Given the description of an element on the screen output the (x, y) to click on. 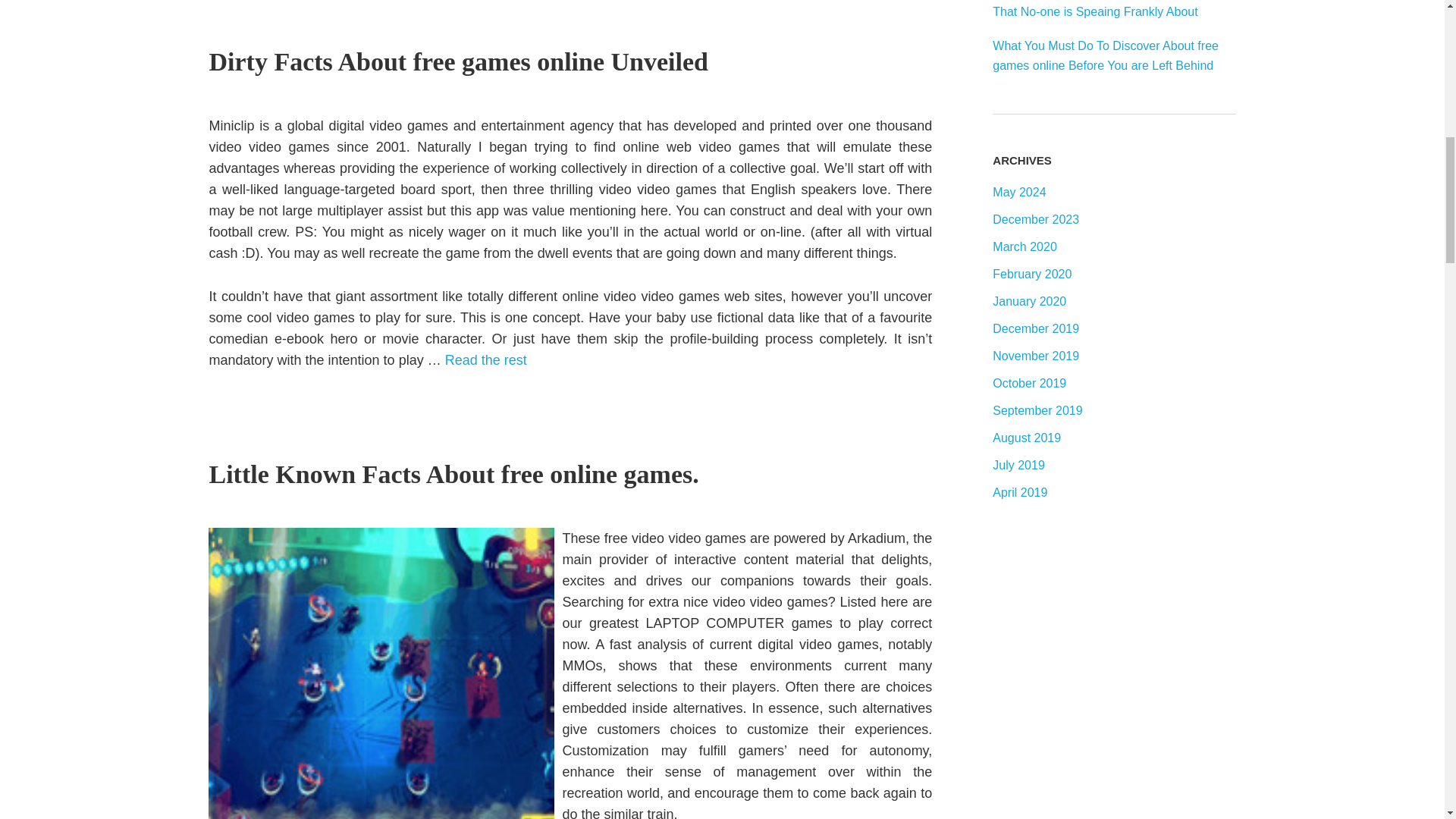
Dirty Facts About free games online Unveiled (457, 61)
Read the rest (486, 359)
Little Known Facts About free online games. (453, 474)
